Given the description of an element on the screen output the (x, y) to click on. 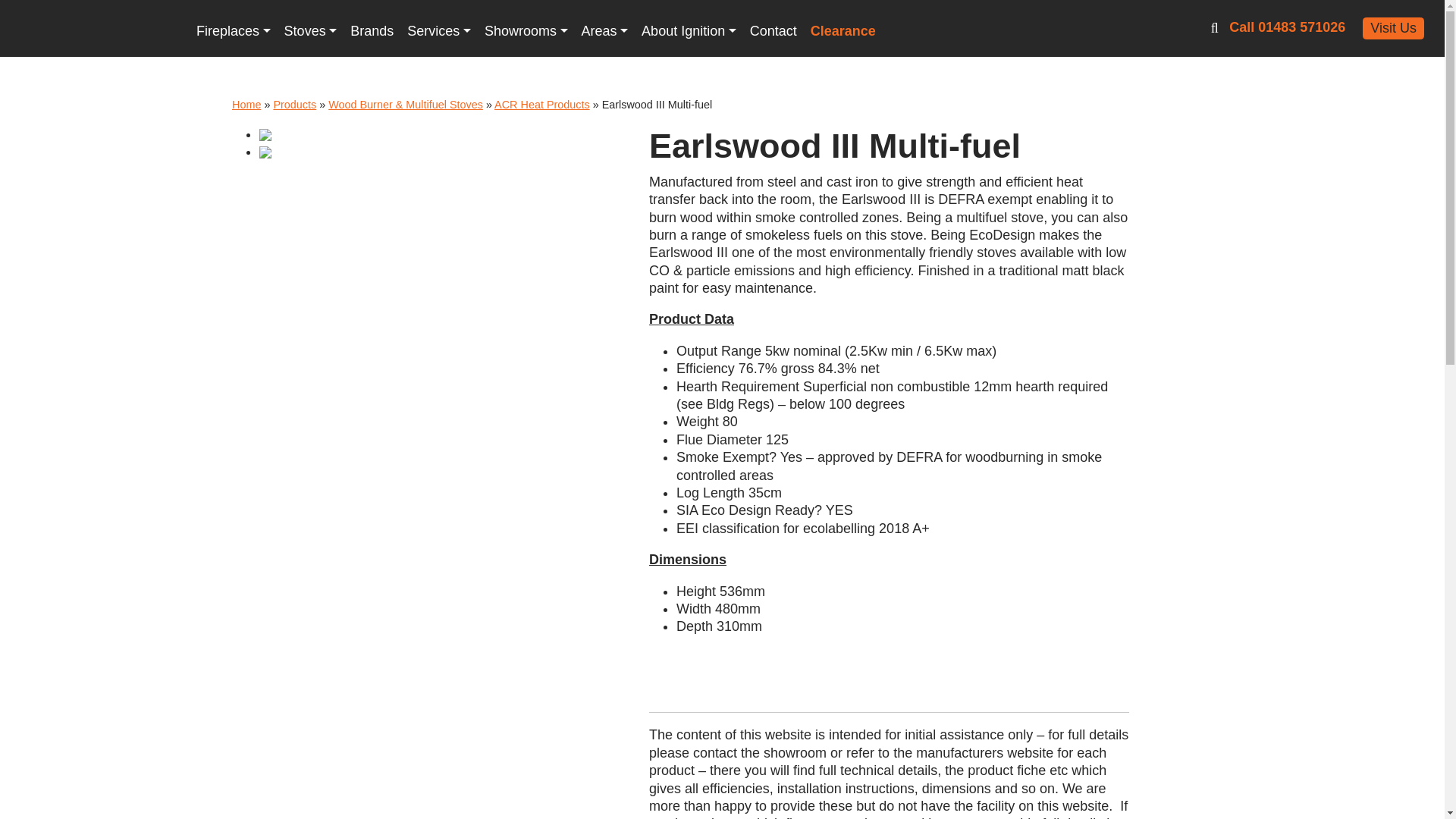
Fireplaces (233, 30)
Areas (604, 30)
Services (438, 30)
About Ignition (688, 30)
Brands (371, 30)
Fireplaces (233, 30)
Stoves (310, 30)
Showrooms (526, 30)
Home (245, 104)
Call 01483 571026 (1286, 27)
Clearance (842, 30)
Visit Us (1392, 28)
Contact (772, 30)
Stoves (310, 30)
Brands (371, 30)
